Given the description of an element on the screen output the (x, y) to click on. 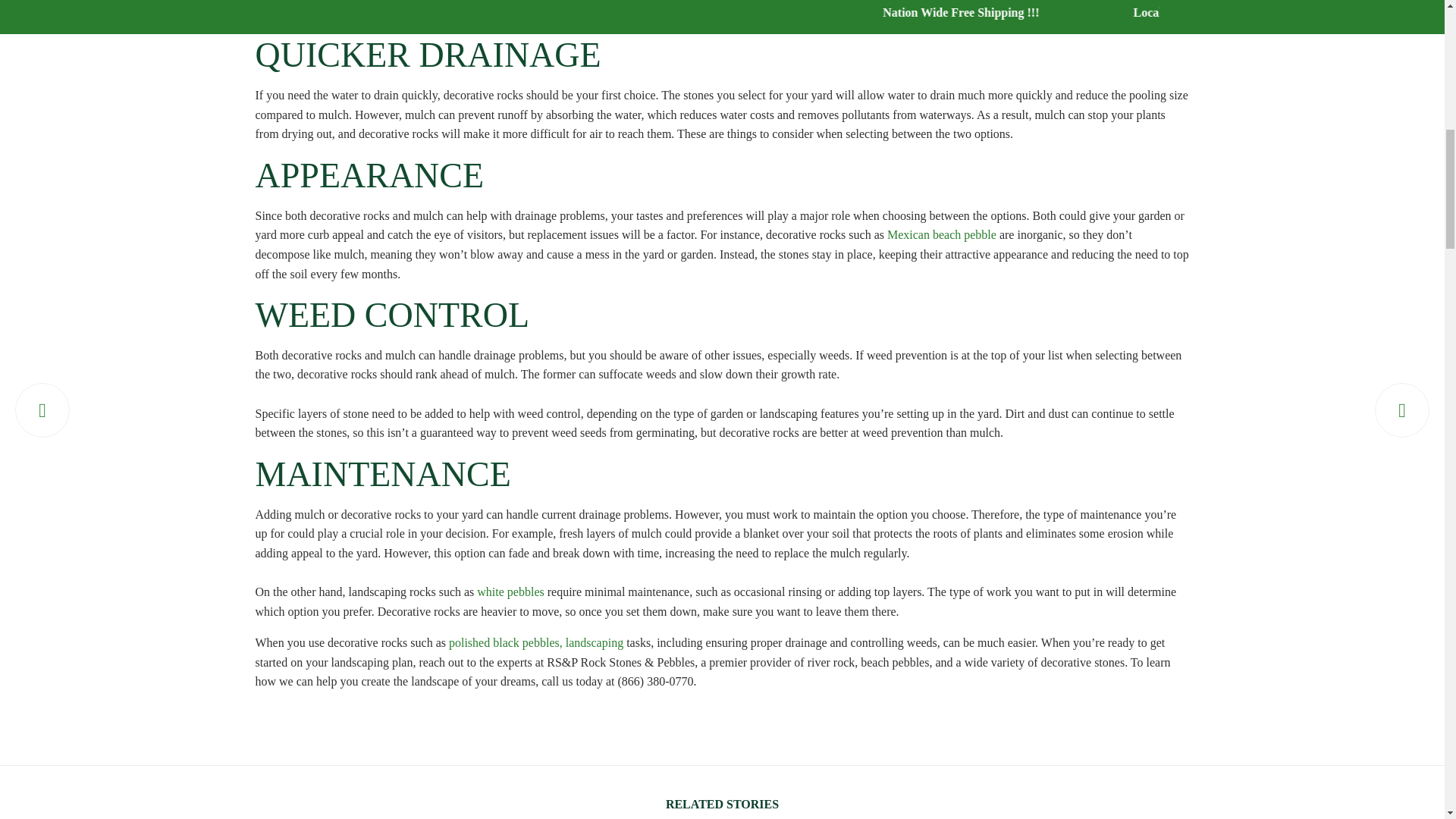
Mexican beach pebble (940, 235)
white pebbles (510, 592)
